Given the description of an element on the screen output the (x, y) to click on. 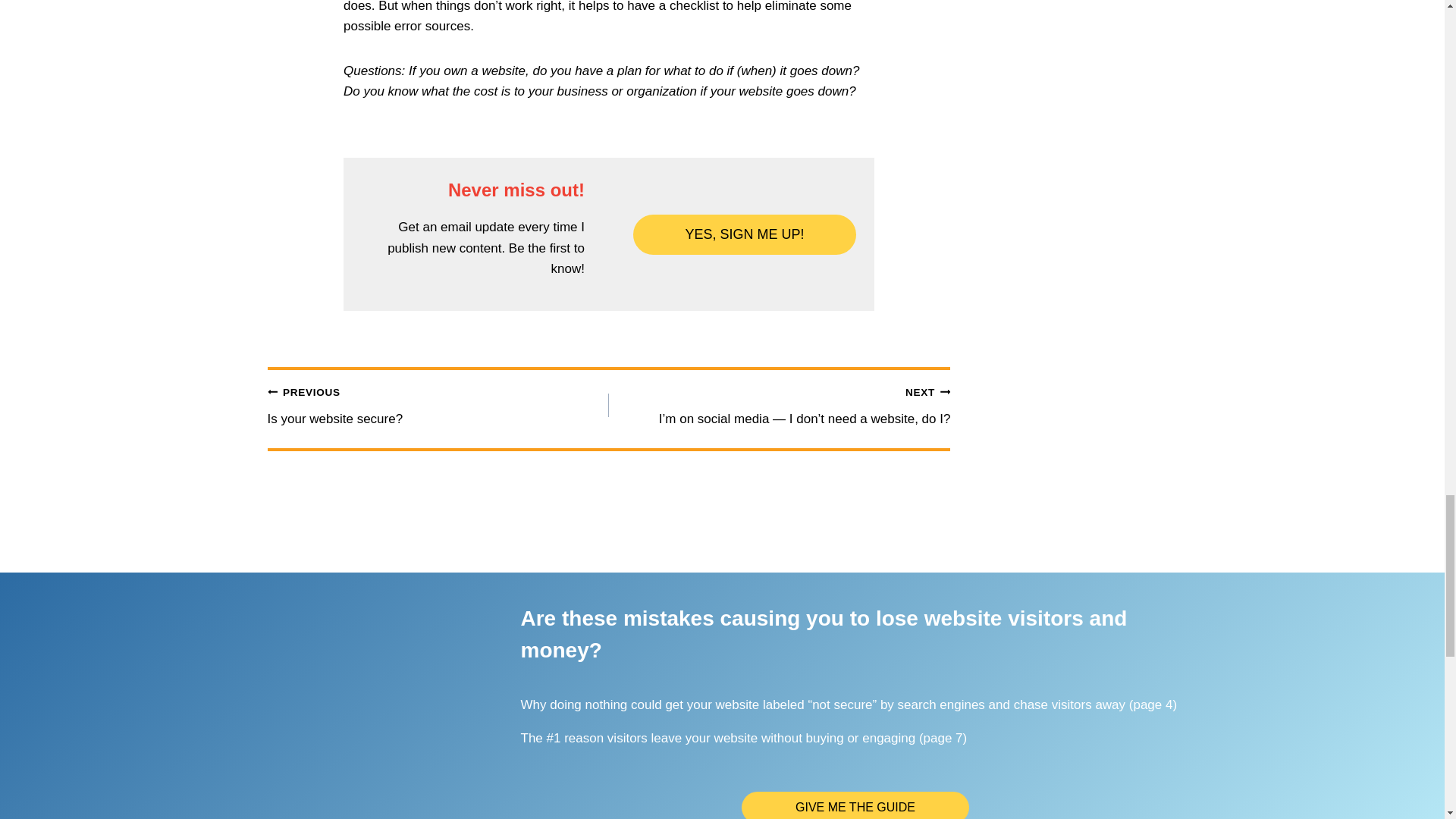
ebook-cover3 (366, 688)
GIVE ME THE GUIDE (437, 405)
YES, SIGN ME UP! (855, 805)
